Given the description of an element on the screen output the (x, y) to click on. 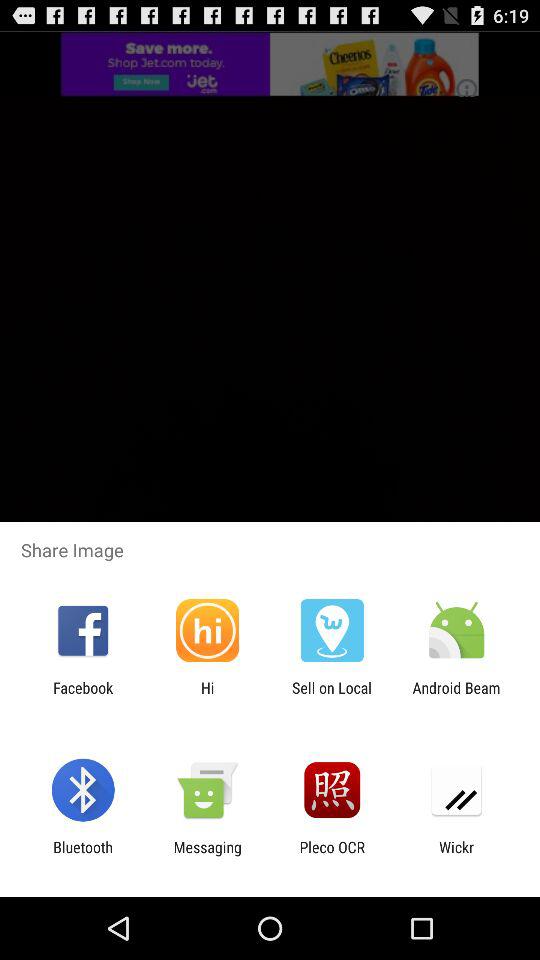
open the bluetooth item (82, 856)
